Given the description of an element on the screen output the (x, y) to click on. 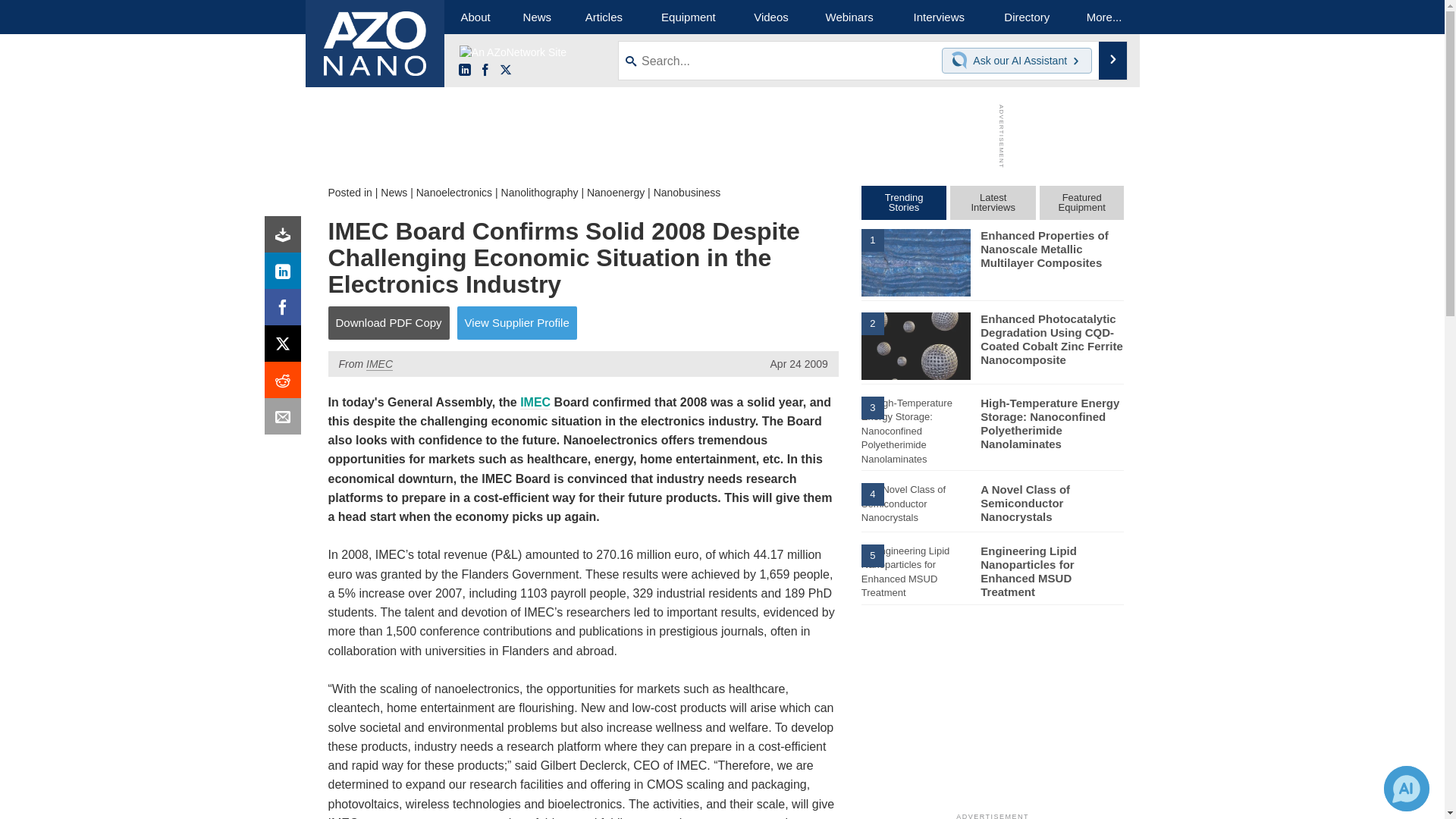
Directory (1026, 17)
Webinars (849, 17)
Equipment (688, 17)
About (475, 17)
Email (285, 420)
Nanoelectronics (454, 192)
Videos (770, 17)
LinkedIn (464, 70)
More... (1104, 17)
News (393, 192)
